Given the description of an element on the screen output the (x, y) to click on. 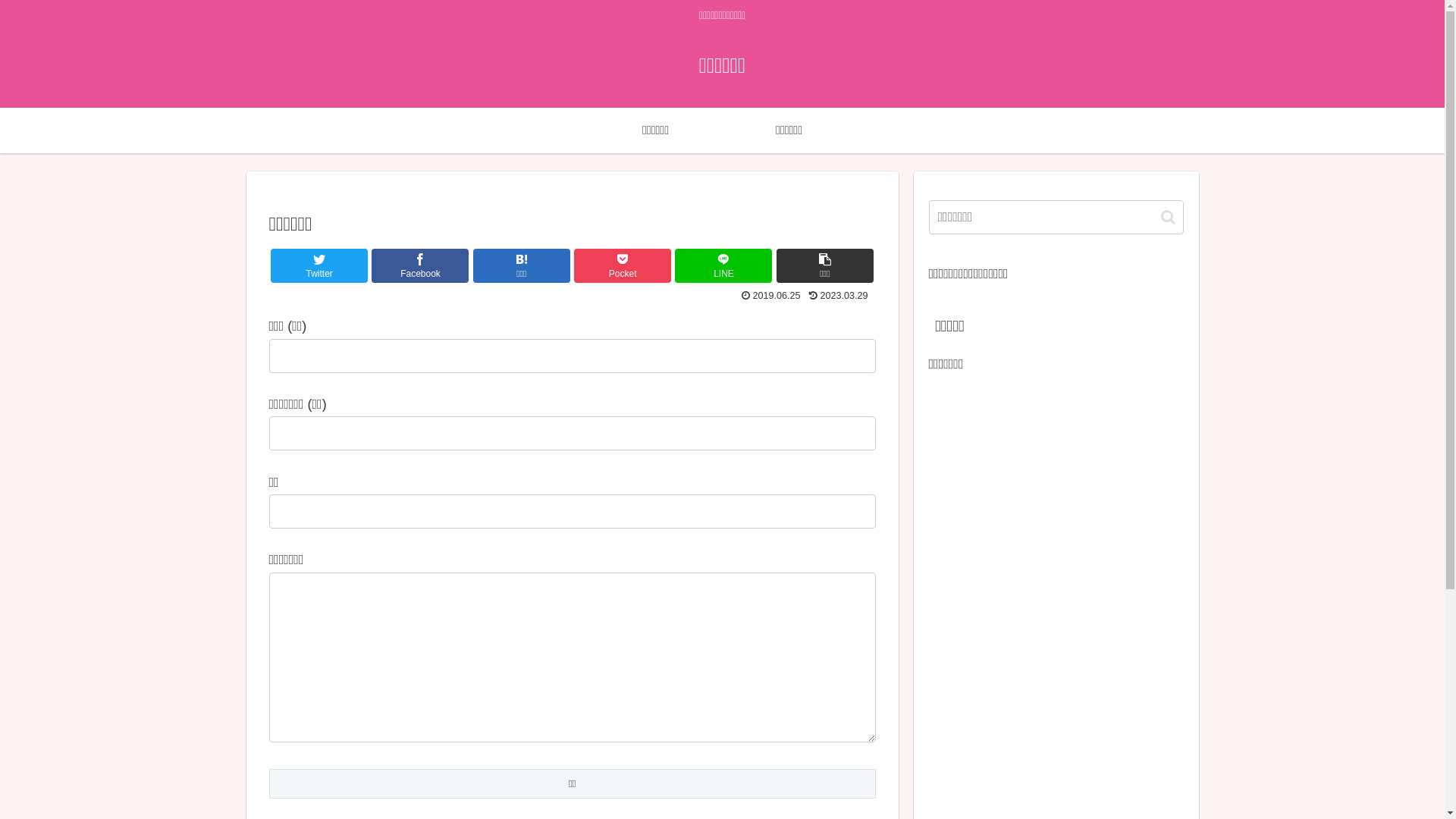
Twitter Element type: text (318, 265)
Pocket Element type: text (622, 265)
Facebook Element type: text (419, 265)
LINE Element type: text (722, 265)
